Given the description of an element on the screen output the (x, y) to click on. 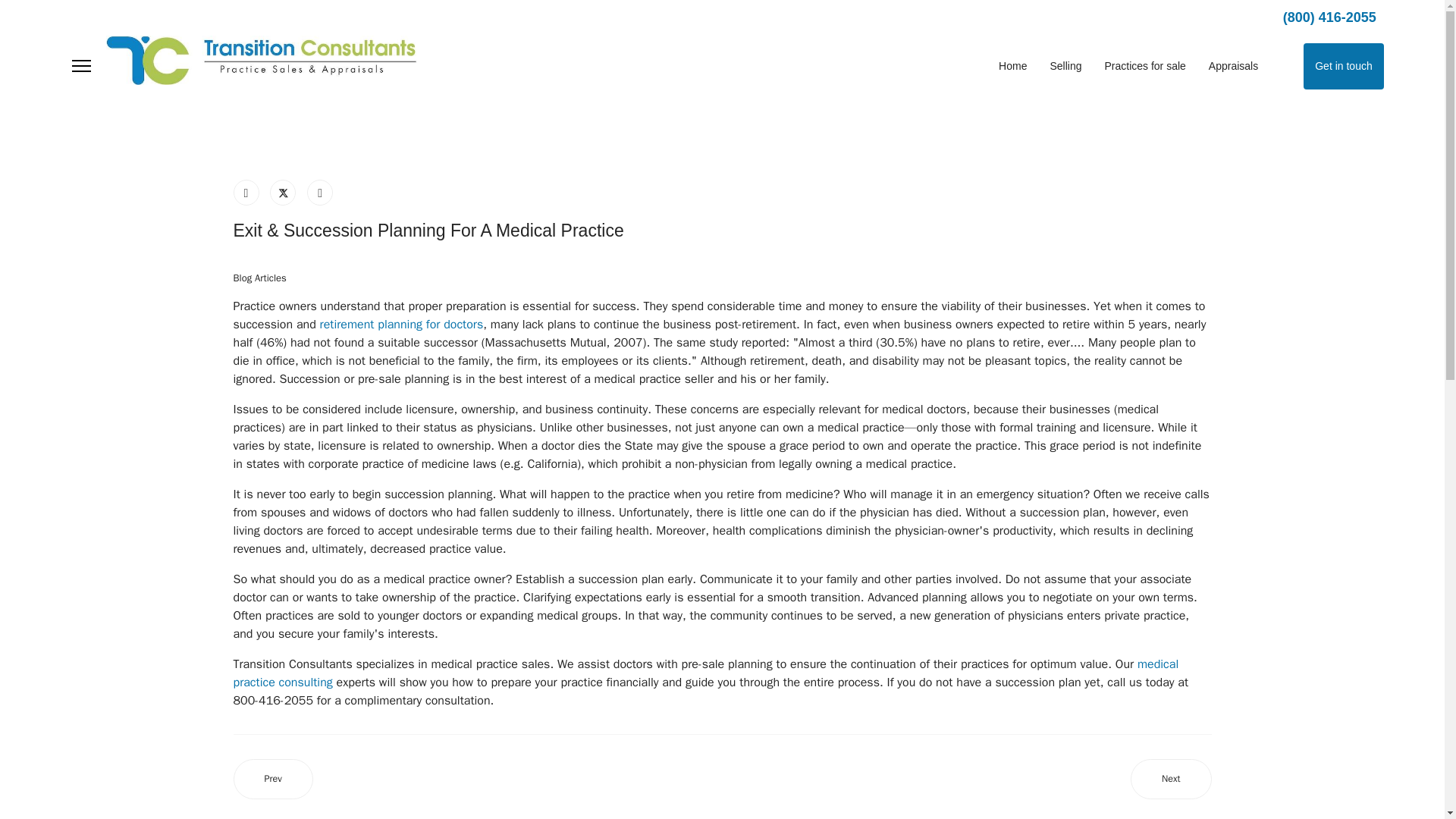
Blog Articles (259, 277)
Appraisals (1232, 66)
Facebook (245, 192)
Home (1012, 66)
retirement planning for doctors (401, 324)
Practices for sale (1144, 66)
Prev (272, 779)
Menu (80, 66)
LinkedIn (320, 192)
Next (1171, 779)
Category: Blog Articles (259, 278)
Selling (1065, 66)
medical practice consulting (705, 673)
Get in touch (1343, 66)
